Given the description of an element on the screen output the (x, y) to click on. 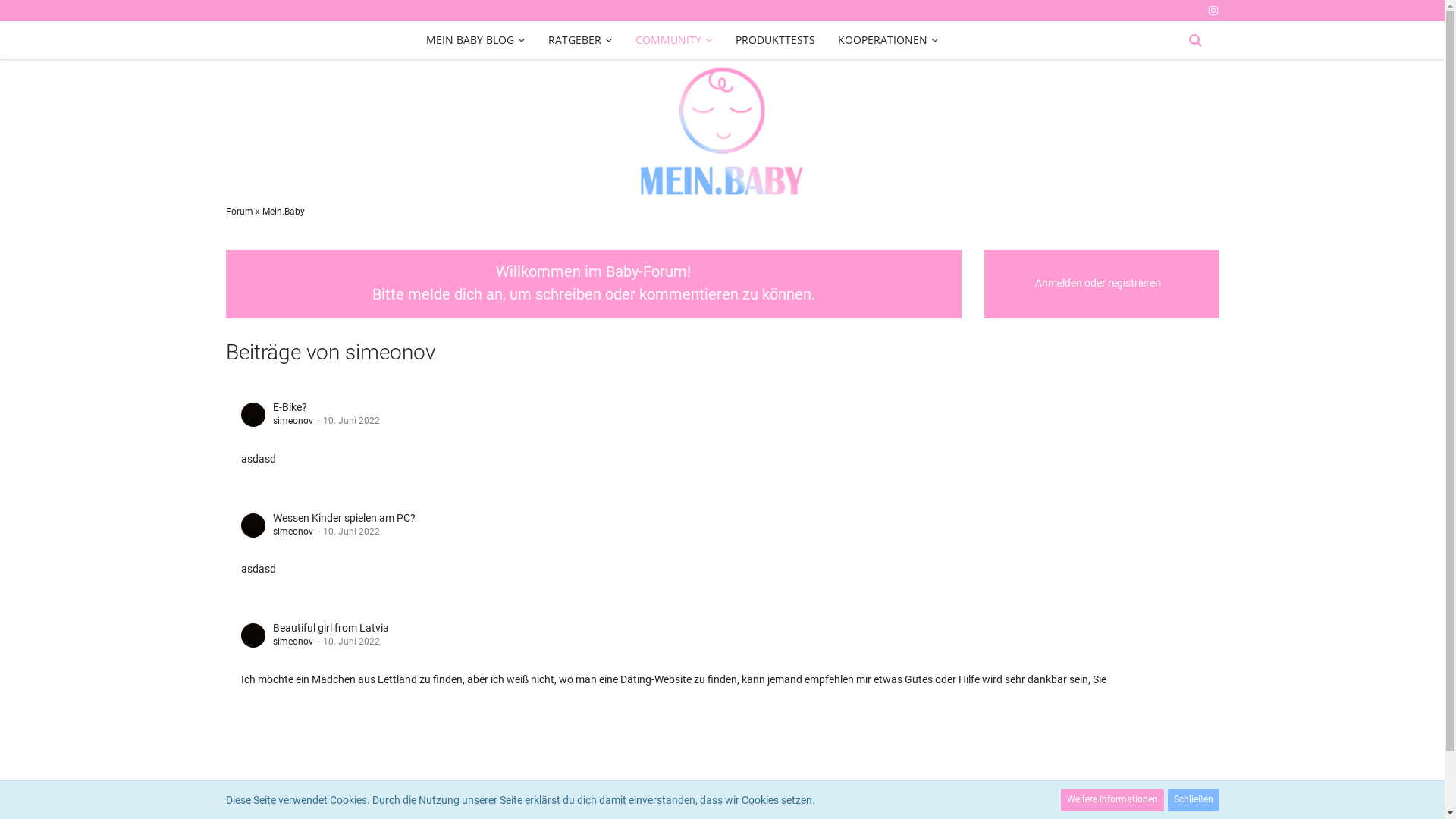
simeonov Element type: text (293, 420)
KOOPERATIONEN Element type: text (888, 40)
Advertisement Element type: hover (721, 751)
Weitere Informationen Element type: text (1111, 799)
PRODUKTTESTS Element type: text (775, 40)
10. Juni 2022 Element type: text (351, 420)
10. Juni 2022 Element type: text (351, 531)
10. Juni 2022 Element type: text (351, 641)
Impressum Element type: text (1195, 812)
Wessen Kinder spielen am PC? Element type: text (344, 517)
COMMUNITY Element type: text (674, 40)
E-Bike? Element type: text (290, 407)
RATGEBER Element type: text (580, 40)
MEIN BABY BLOG Element type: text (475, 40)
Anmelden oder registrieren Element type: text (1097, 282)
simeonov Element type: text (293, 531)
Beautiful girl from Latvia Element type: text (331, 627)
simeonov Element type: text (293, 641)
